Given the description of an element on the screen output the (x, y) to click on. 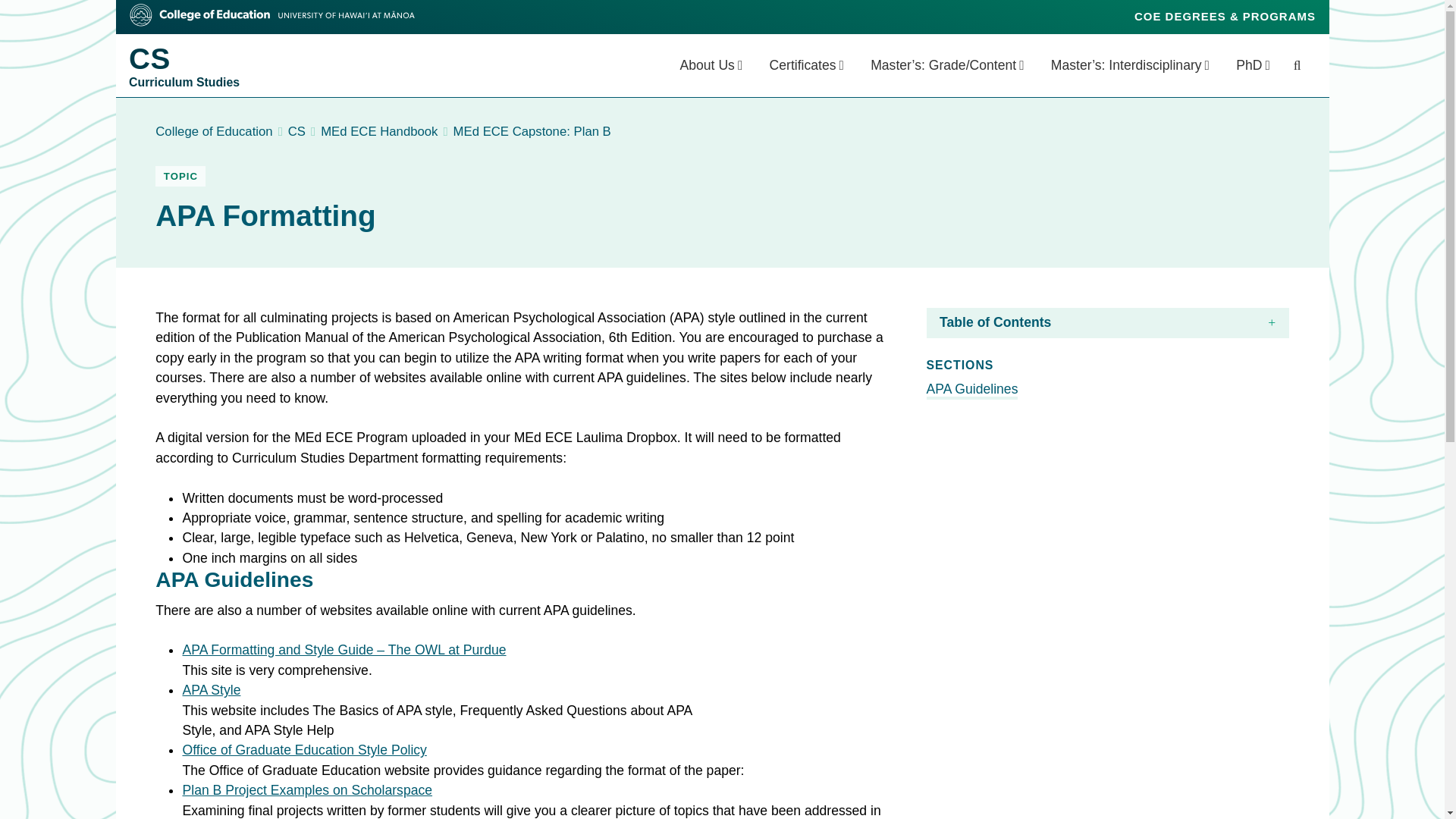
Go to MEd ECE Handbook. (379, 131)
About Us (710, 65)
college of education main (271, 15)
Go to College of Education. (213, 131)
Go to CS. (296, 131)
Go to MEd ECE Capstone: Plan B. (531, 131)
Certificates (190, 65)
College of Education (806, 65)
